Given the description of an element on the screen output the (x, y) to click on. 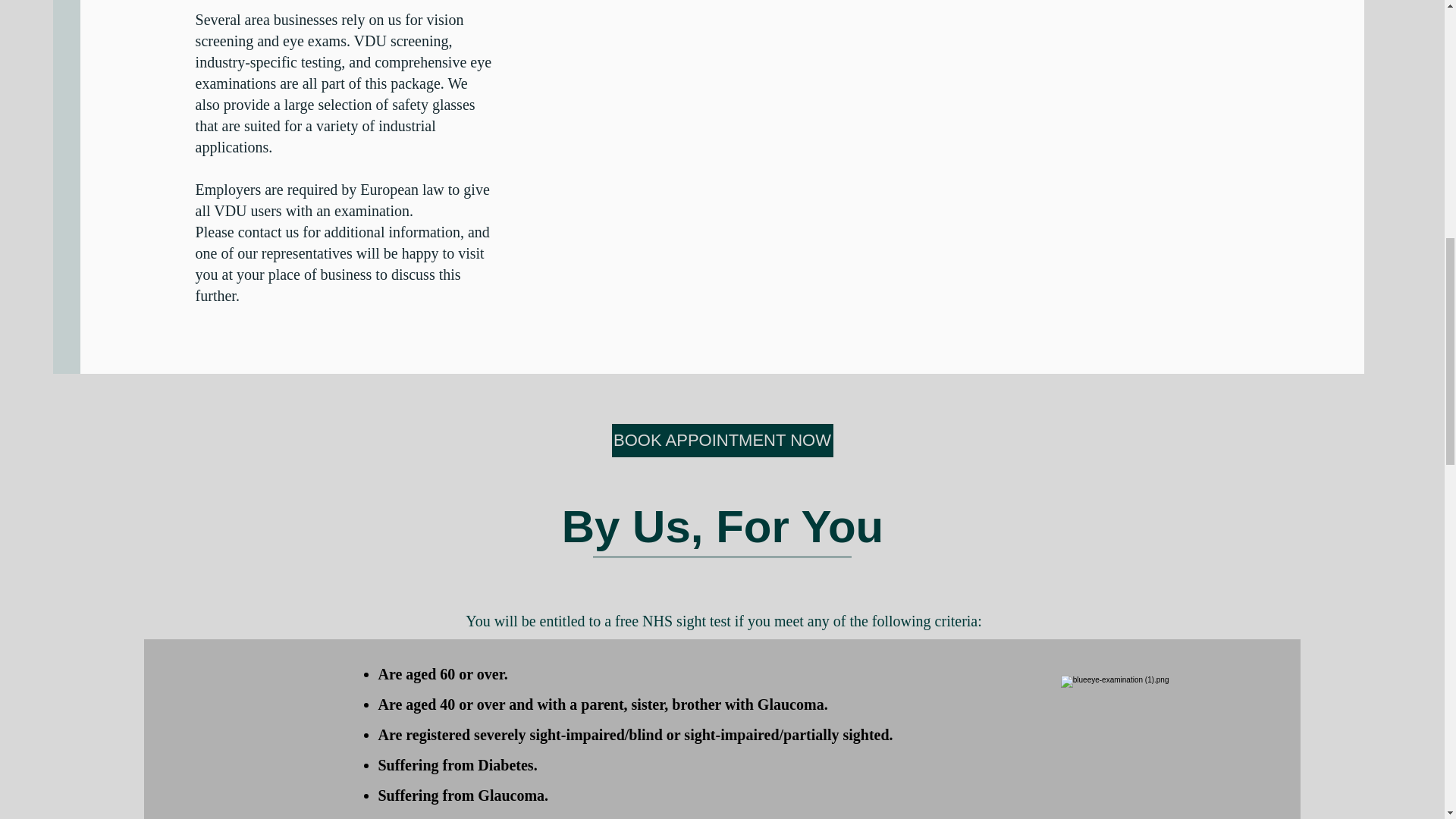
BOOK APPOINTMENT NOW (721, 440)
